Given the description of an element on the screen output the (x, y) to click on. 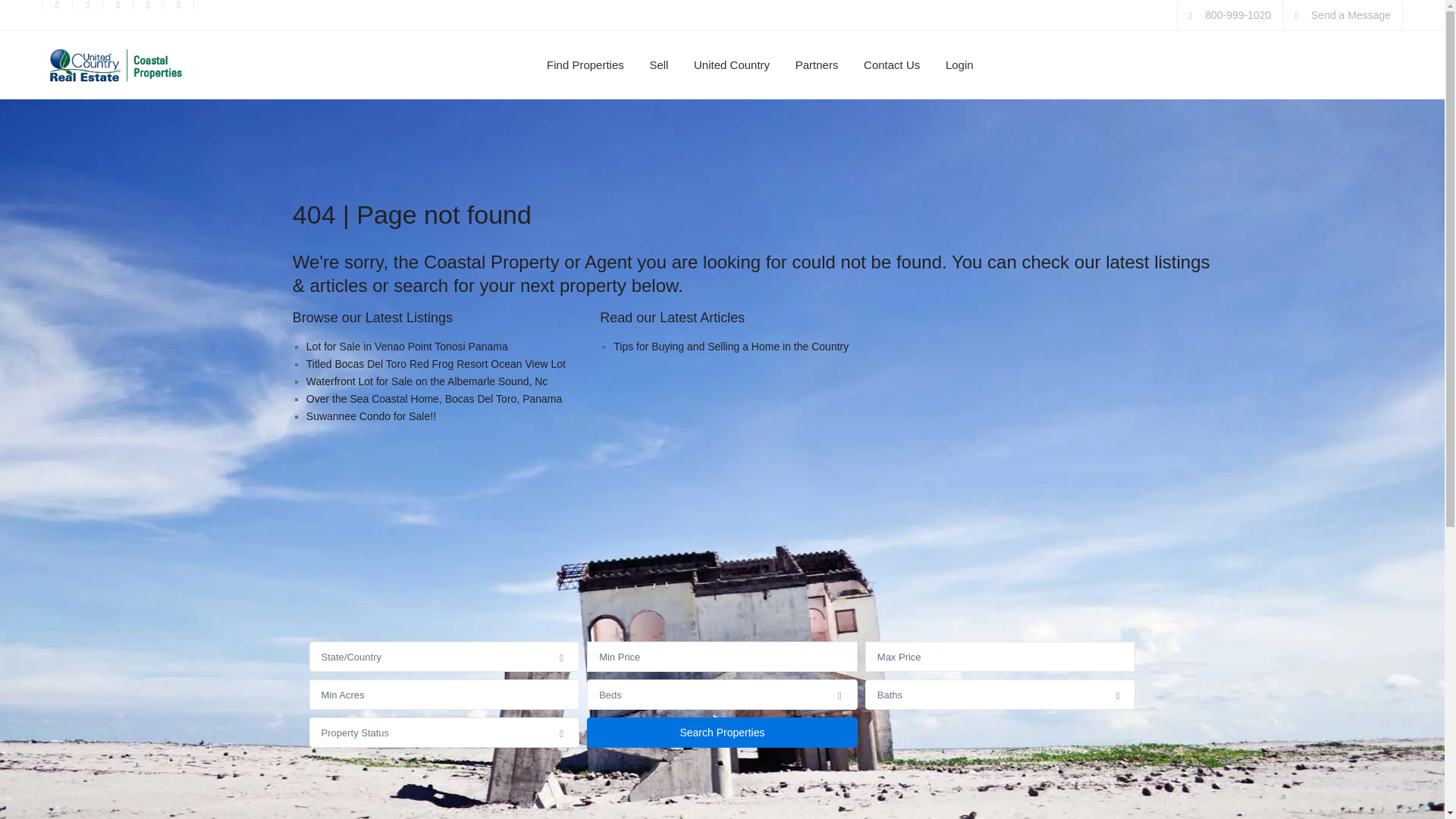
800-999-1020 (1238, 14)
Send a Message (1350, 14)
Search Properties (721, 732)
Find Properties (584, 65)
United Country (731, 65)
